Given the description of an element on the screen output the (x, y) to click on. 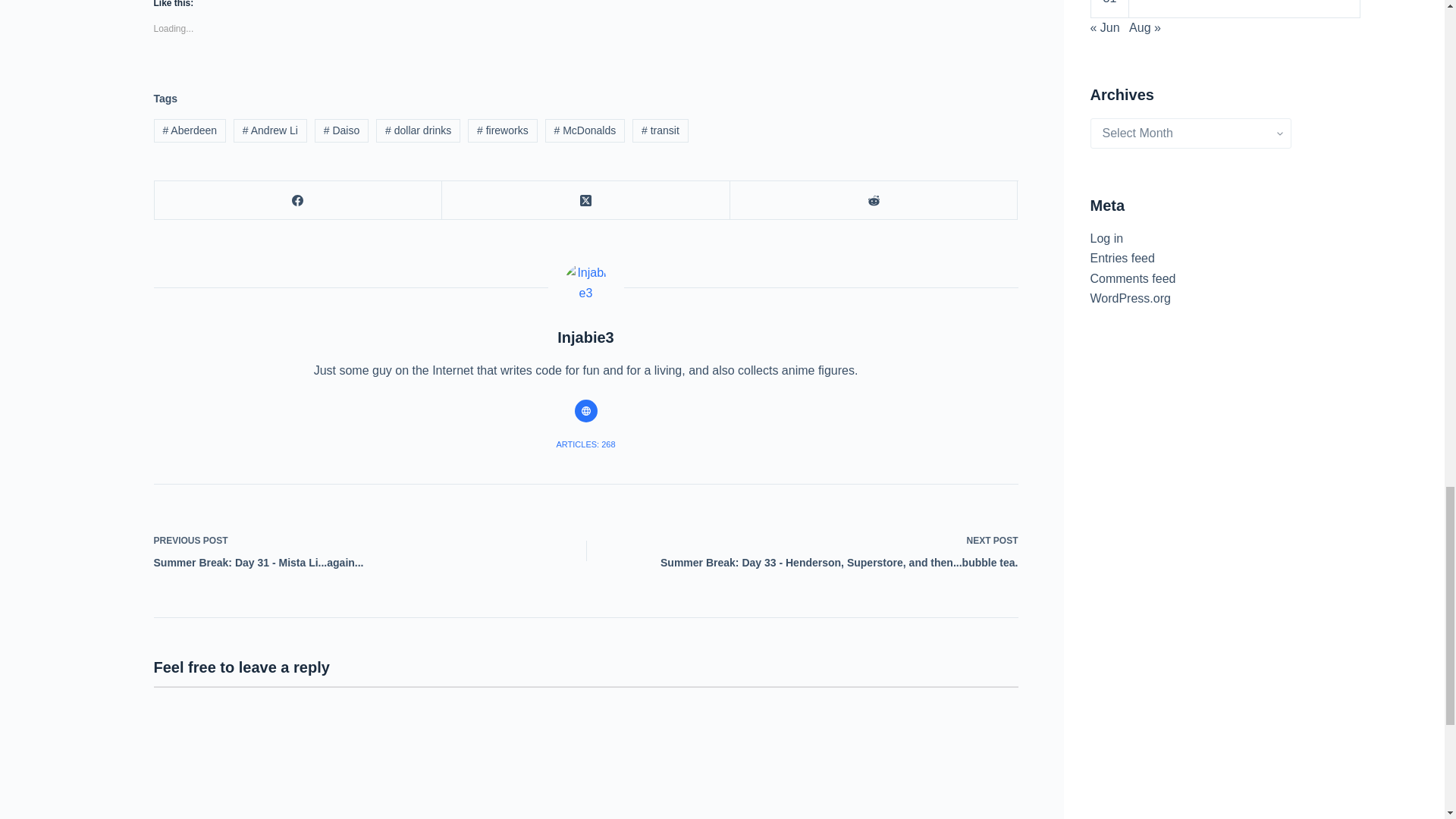
Comment Form (584, 752)
